Given the description of an element on the screen output the (x, y) to click on. 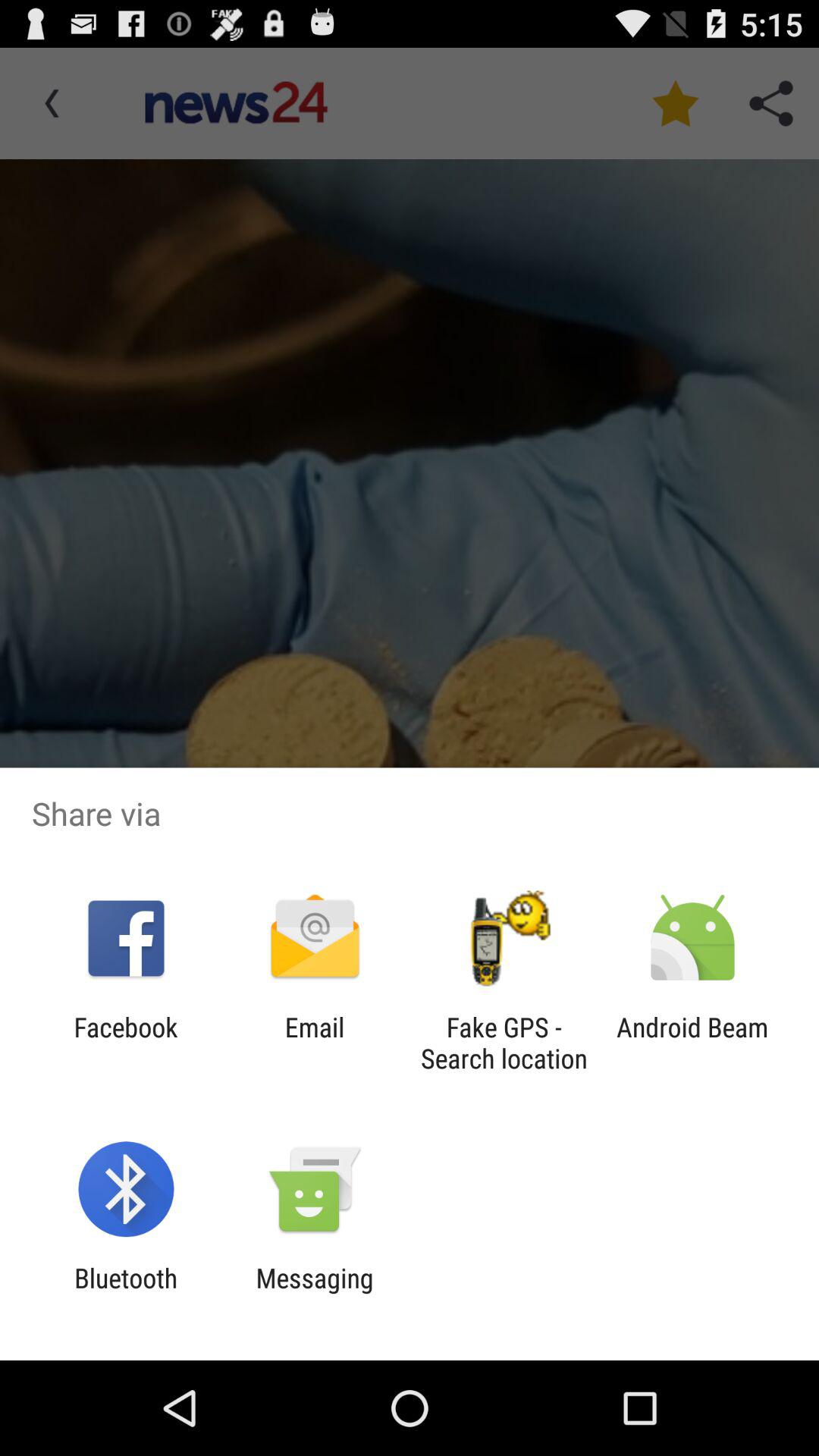
open the android beam at the bottom right corner (692, 1042)
